Given the description of an element on the screen output the (x, y) to click on. 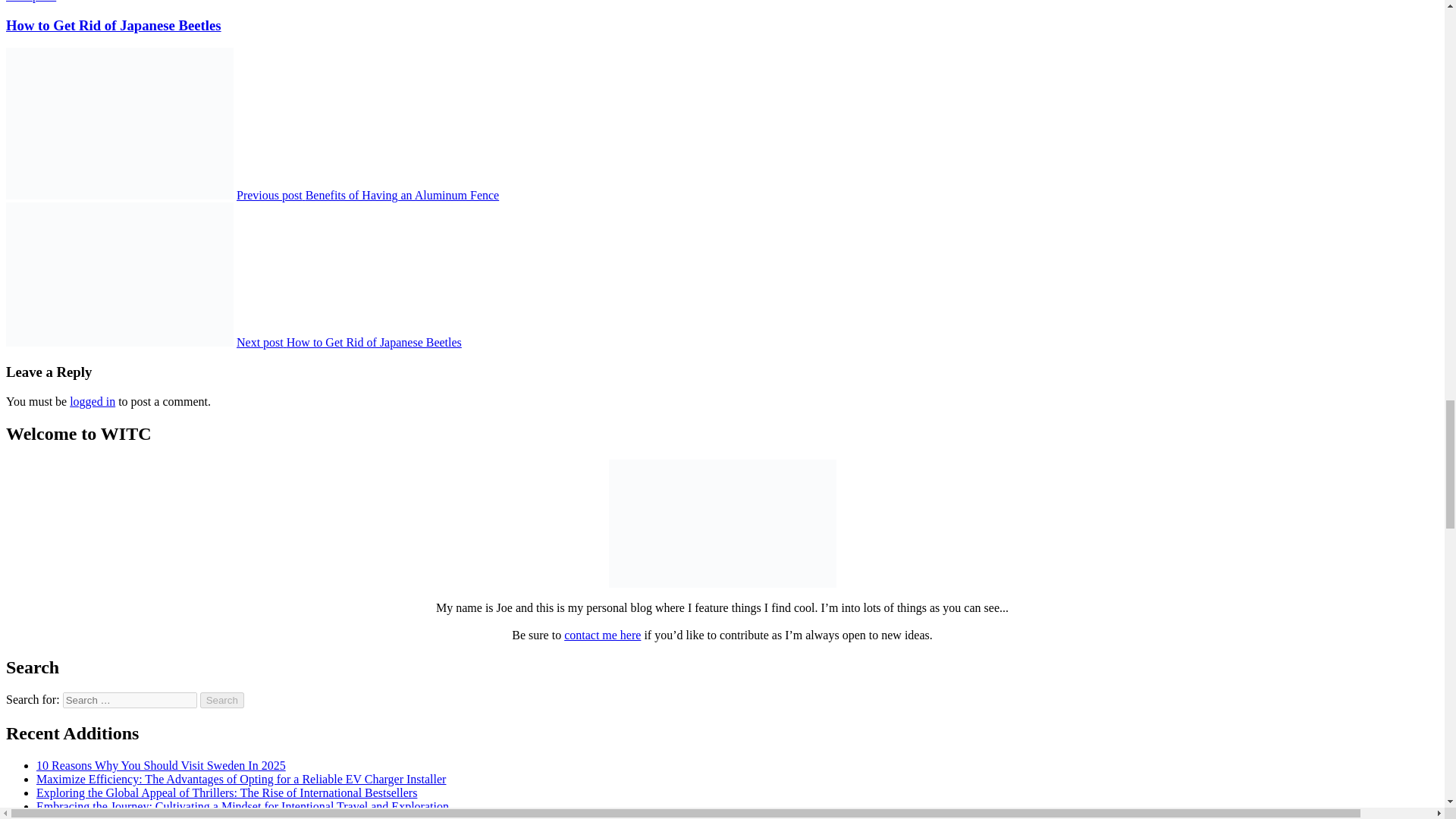
Previous post Benefits of Having an Aluminum Fence (367, 195)
10 Reasons Why You Should Visit Sweden In 2025 (160, 765)
Search (222, 700)
contact me here (602, 634)
Search (222, 700)
logged in (721, 17)
